Given the description of an element on the screen output the (x, y) to click on. 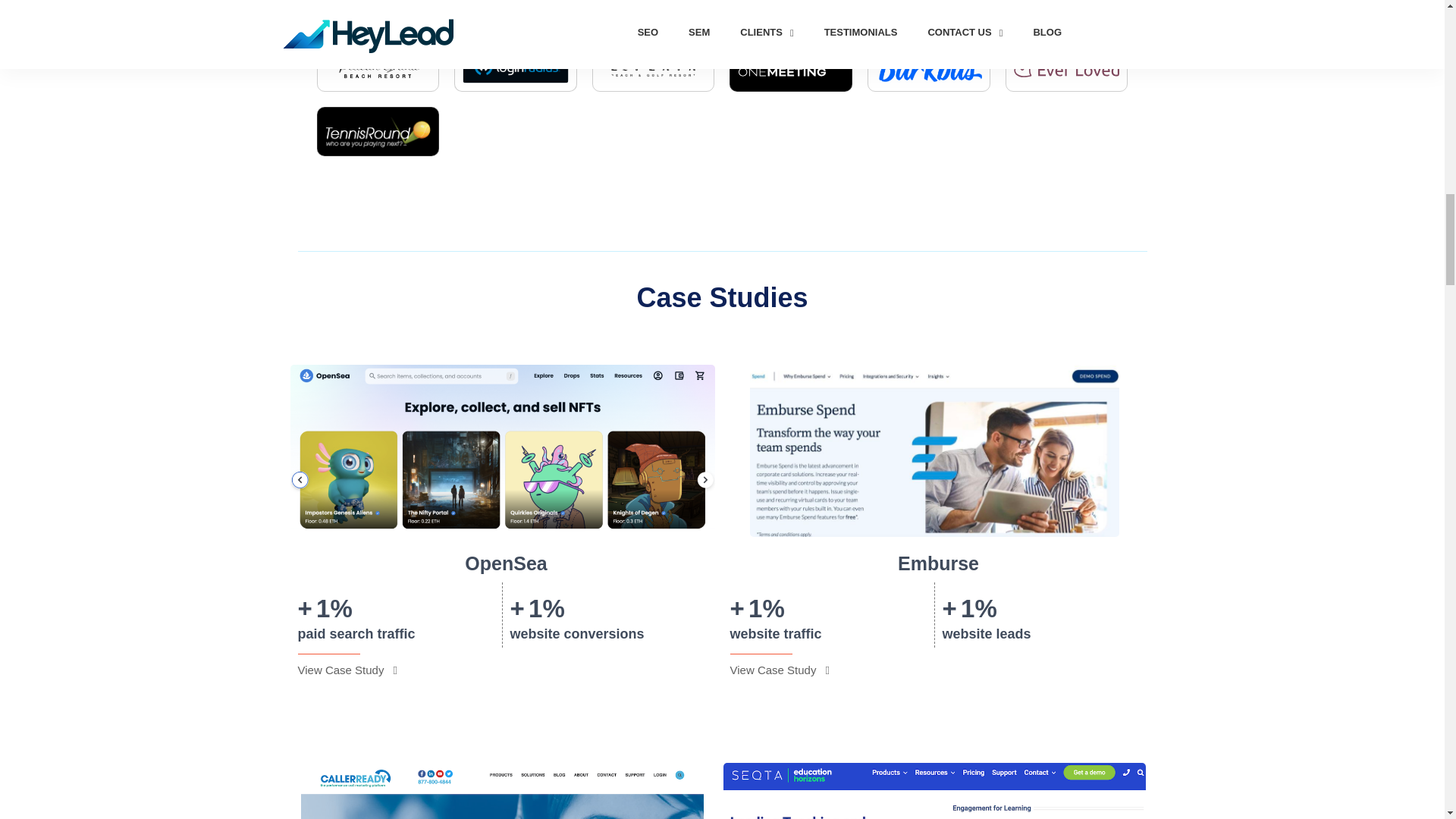
opensea case study (501, 450)
callerready case study (502, 790)
emburse case study (934, 450)
